Given the description of an element on the screen output the (x, y) to click on. 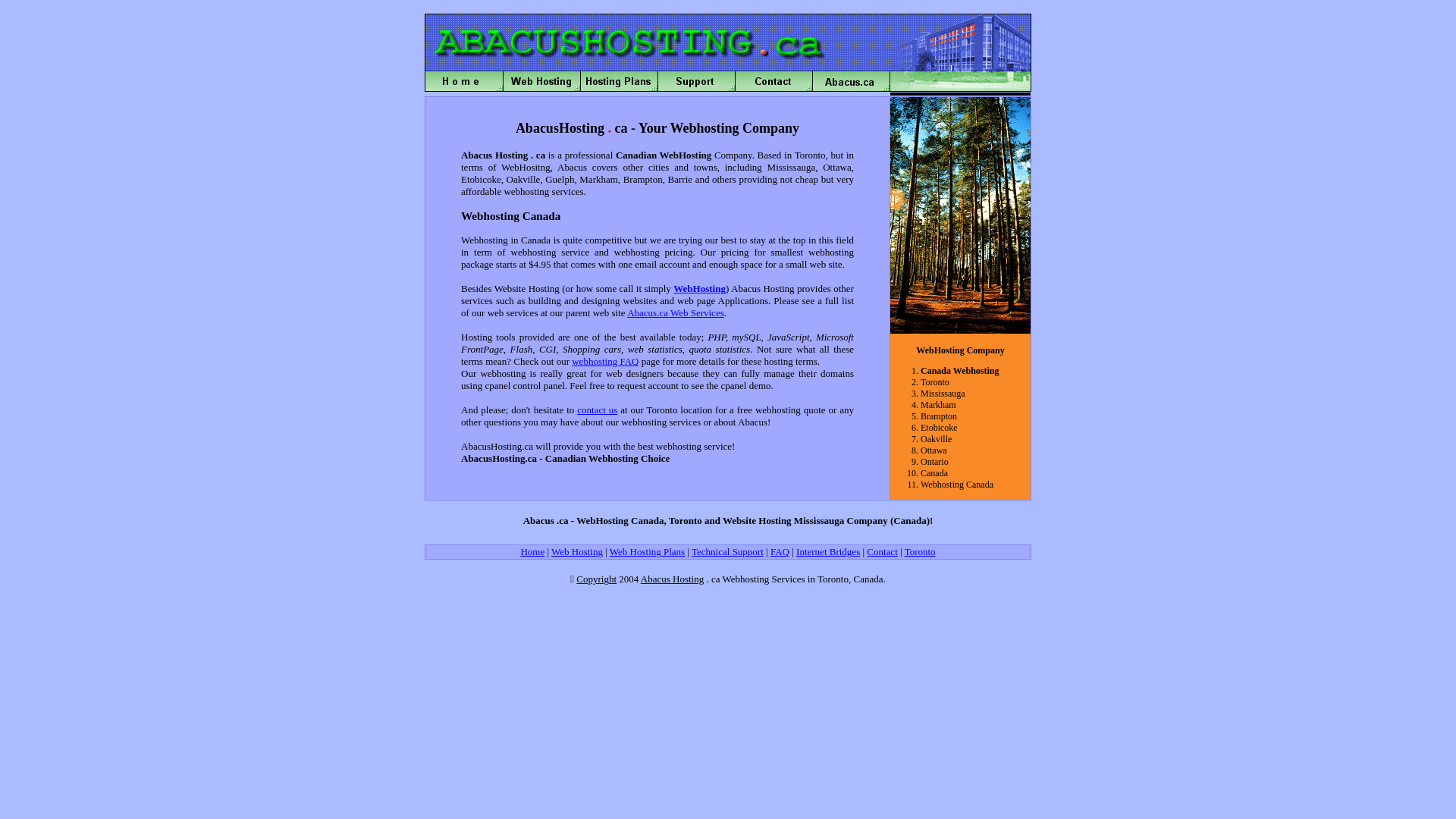
contact us Element type: text (597, 409)
Web Hosting Plans Element type: text (646, 551)
Copyright Element type: text (596, 578)
Abacus Hosting Element type: text (671, 578)
Abacus.ca Web Services Element type: text (675, 312)
FAQ Element type: text (779, 551)
Home Element type: text (532, 551)
Web Hosting Element type: text (576, 551)
webhosting FAQ Element type: text (604, 361)
Contact Element type: text (881, 551)
Internet Bridges Element type: text (827, 551)
WebHosting Element type: text (699, 288)
Toronto Element type: text (919, 551)
Technical Support Element type: text (727, 551)
